Given the description of an element on the screen output the (x, y) to click on. 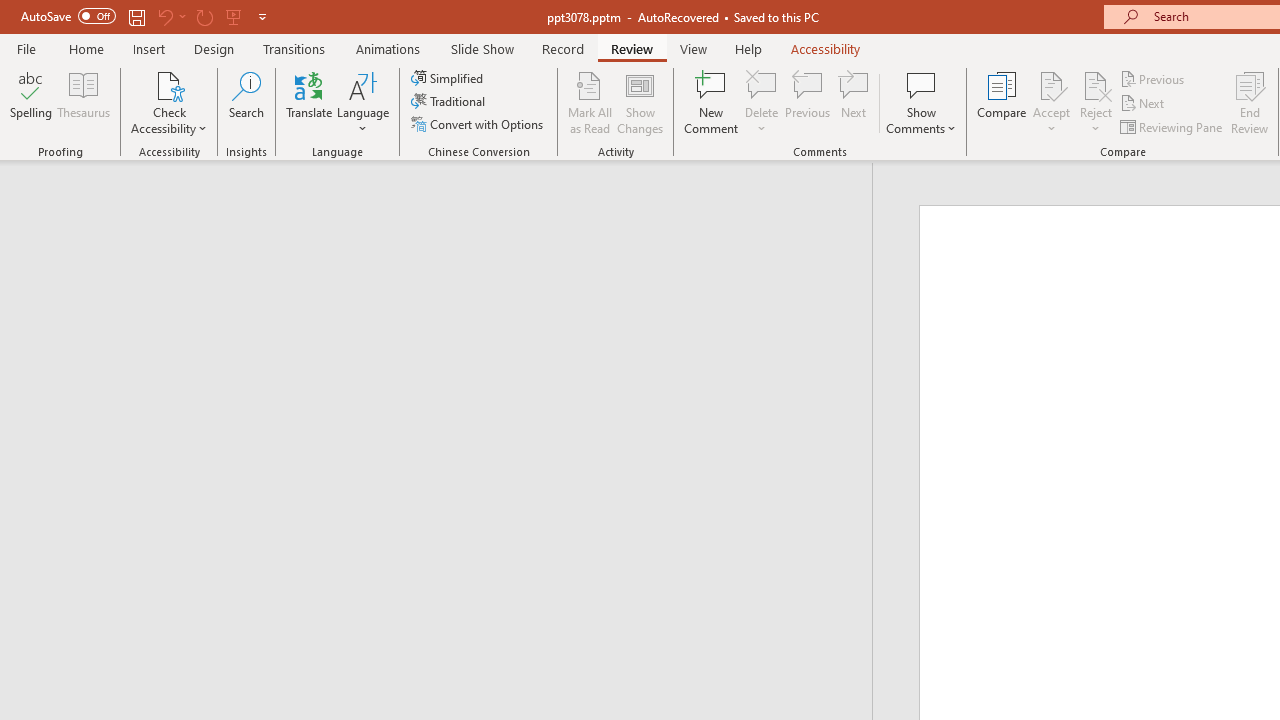
Mark All as Read (589, 102)
Show Comments (921, 102)
Show Changes (639, 102)
Outline (445, 202)
Traditional (449, 101)
